Given the description of an element on the screen output the (x, y) to click on. 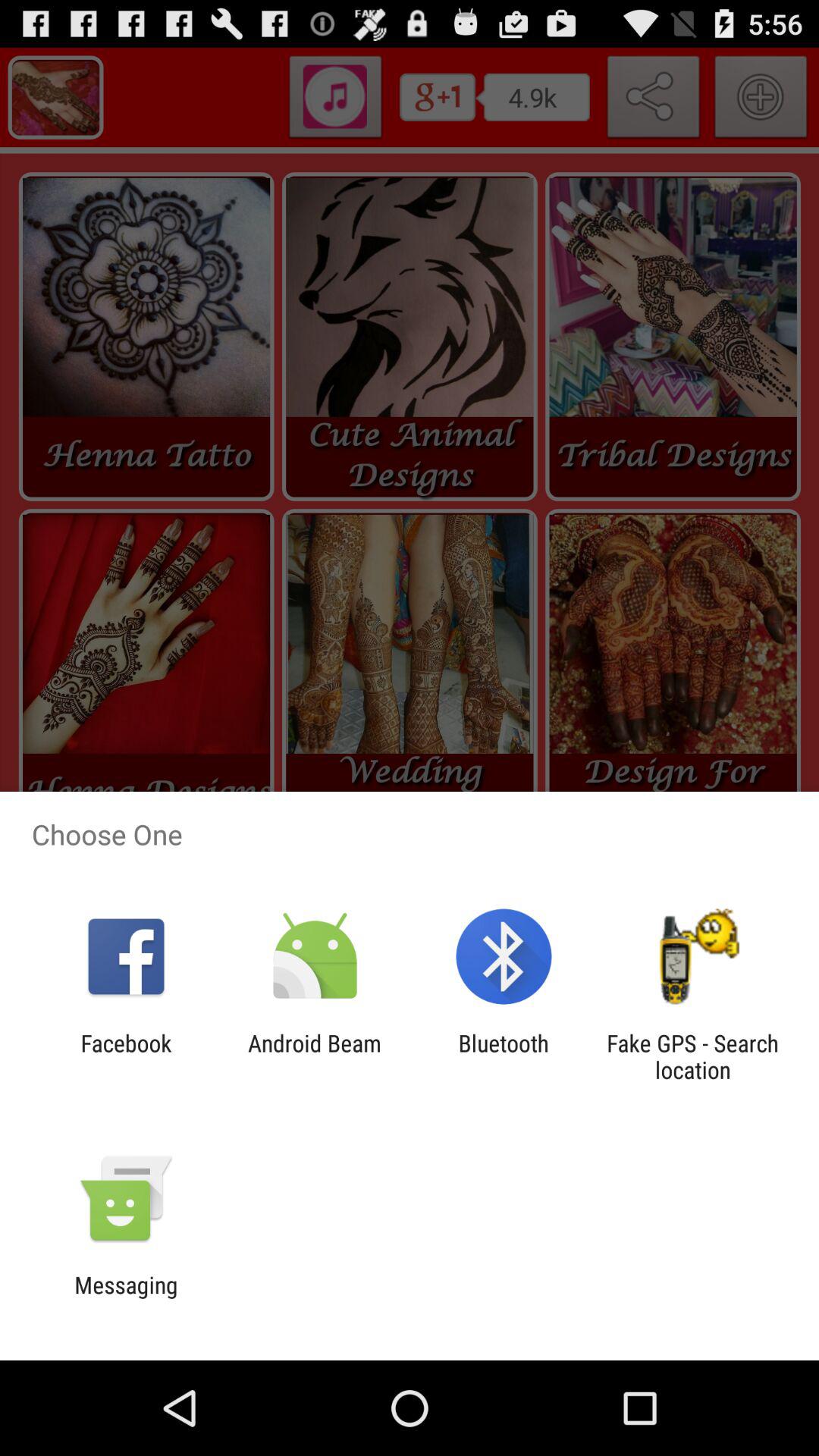
tap android beam item (314, 1056)
